Given the description of an element on the screen output the (x, y) to click on. 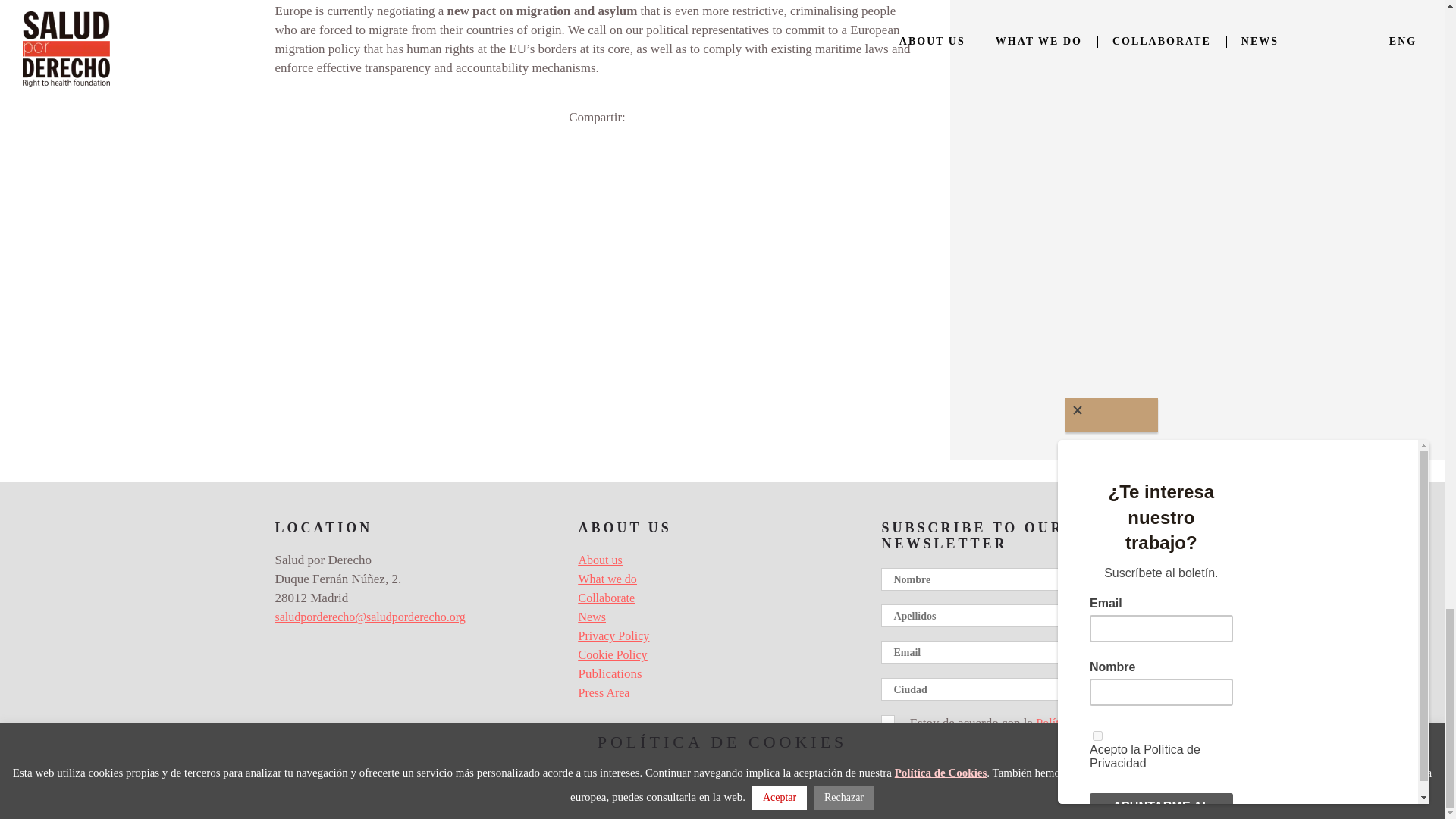
About us (599, 559)
News (591, 616)
Privacy Policy (613, 635)
What we do (607, 578)
Cookie Policy (612, 654)
Collaborate (606, 597)
Enviar (933, 763)
Publications (610, 673)
Press Area (603, 692)
Enviar (933, 763)
1 (885, 722)
